Given the description of an element on the screen output the (x, y) to click on. 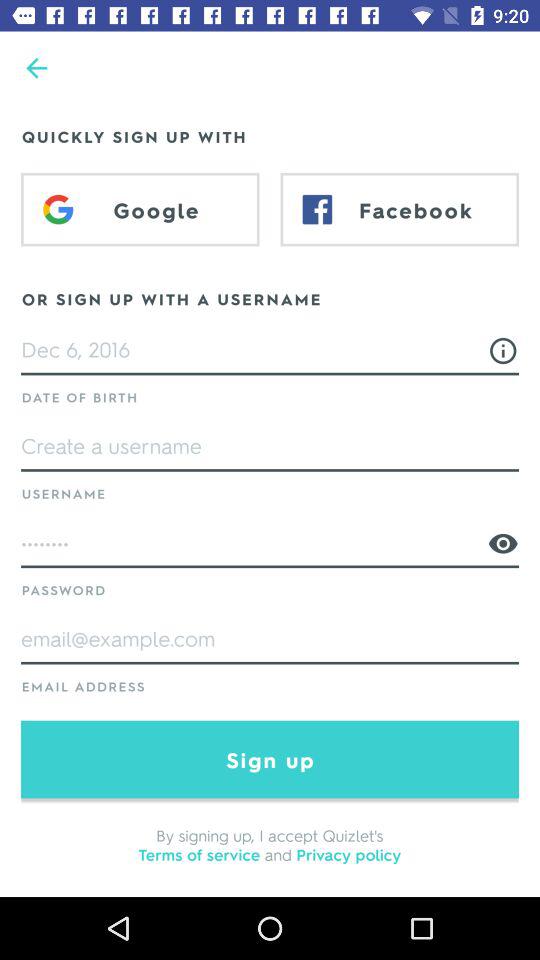
tap the item above or sign up (399, 209)
